Given the description of an element on the screen output the (x, y) to click on. 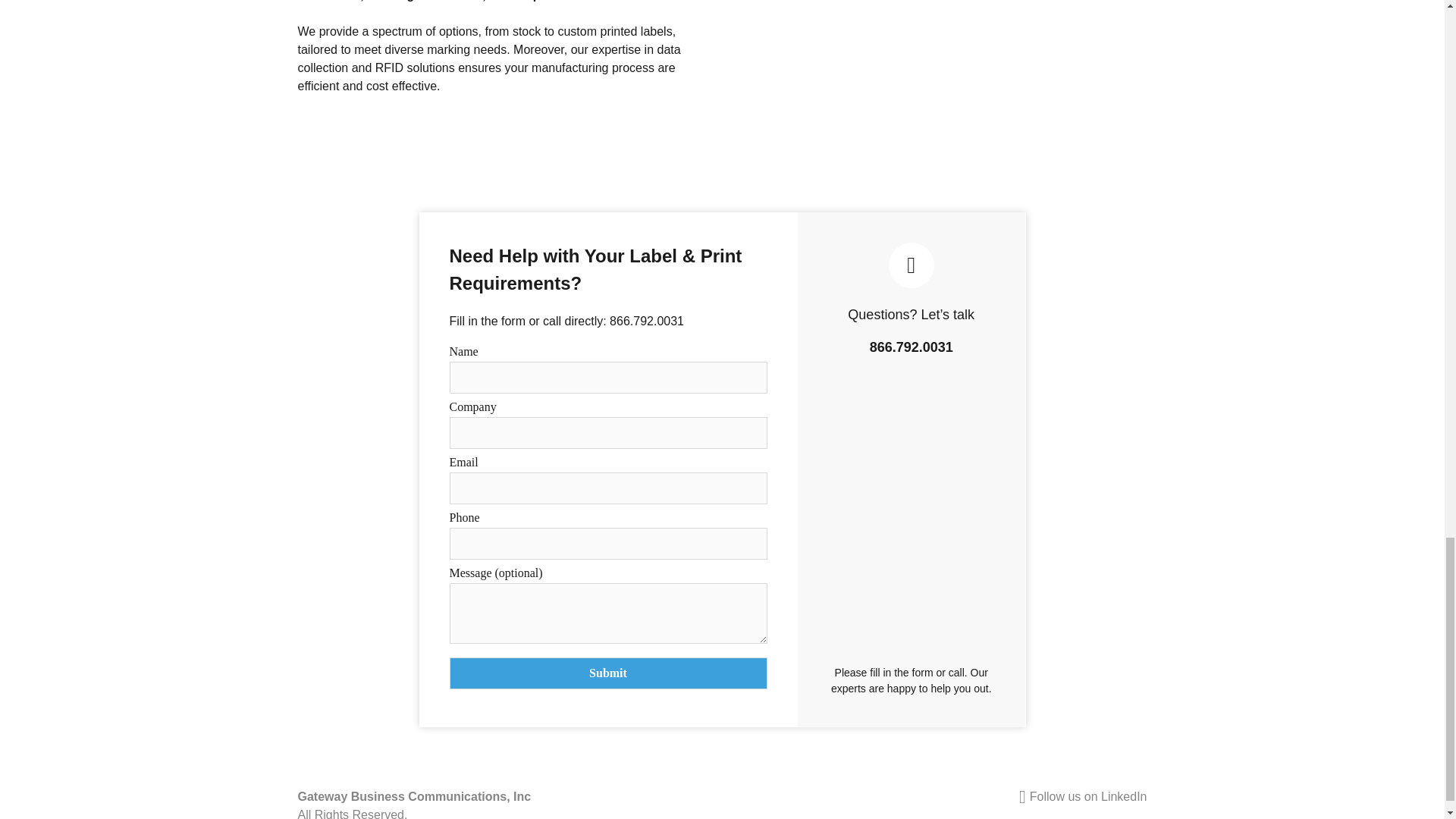
Follow us on LinkedIn (938, 796)
Submit (607, 673)
Submit (607, 673)
